Given the description of an element on the screen output the (x, y) to click on. 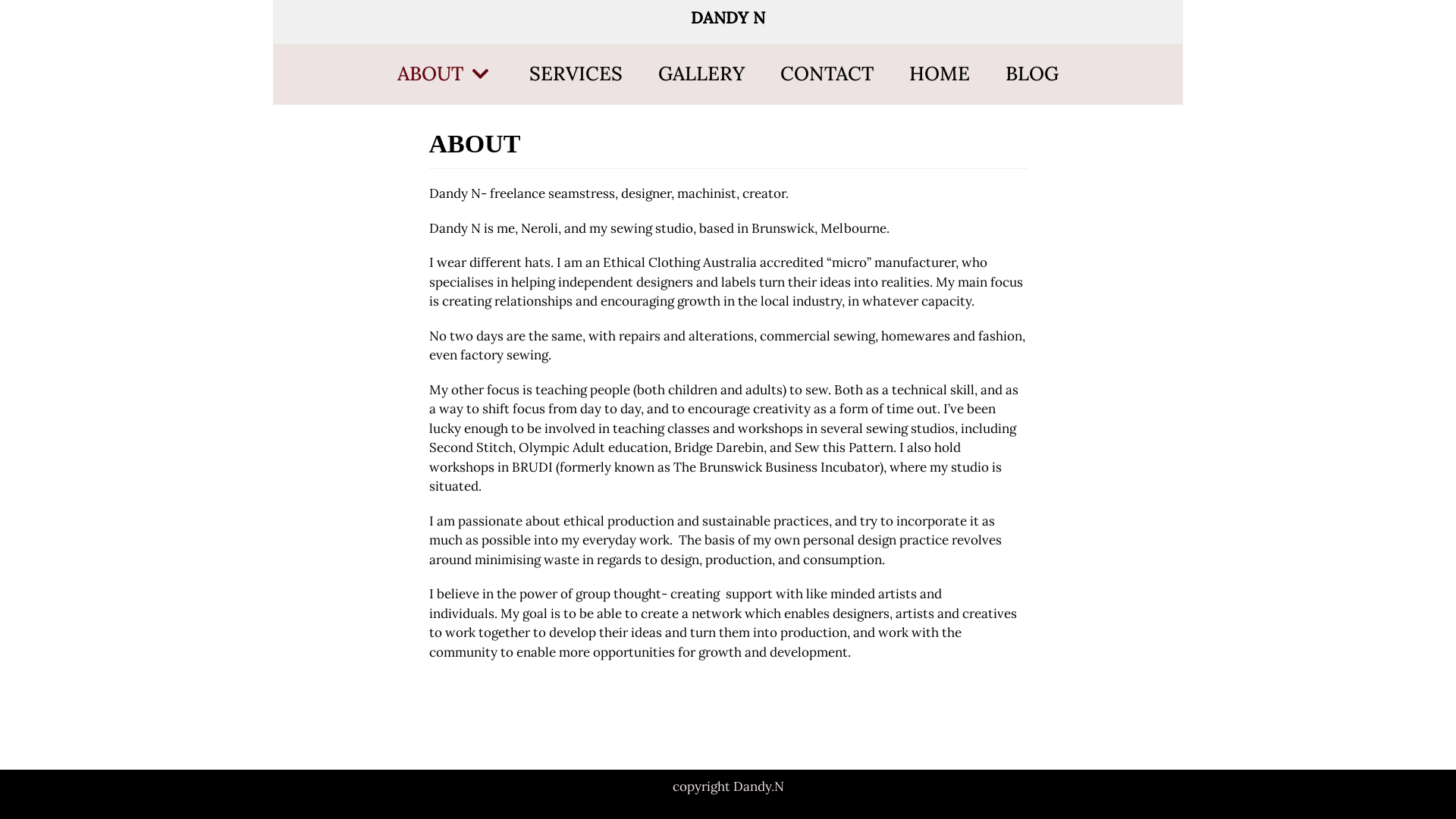
CONTACT Element type: text (826, 74)
SERVICES Element type: text (575, 74)
BLOG Element type: text (1031, 74)
HOME Element type: text (939, 74)
GALLERY Element type: text (701, 74)
Skip to content Element type: text (15, 7)
DANDY N Element type: text (727, 18)
ABOUT Element type: text (445, 74)
